Given the description of an element on the screen output the (x, y) to click on. 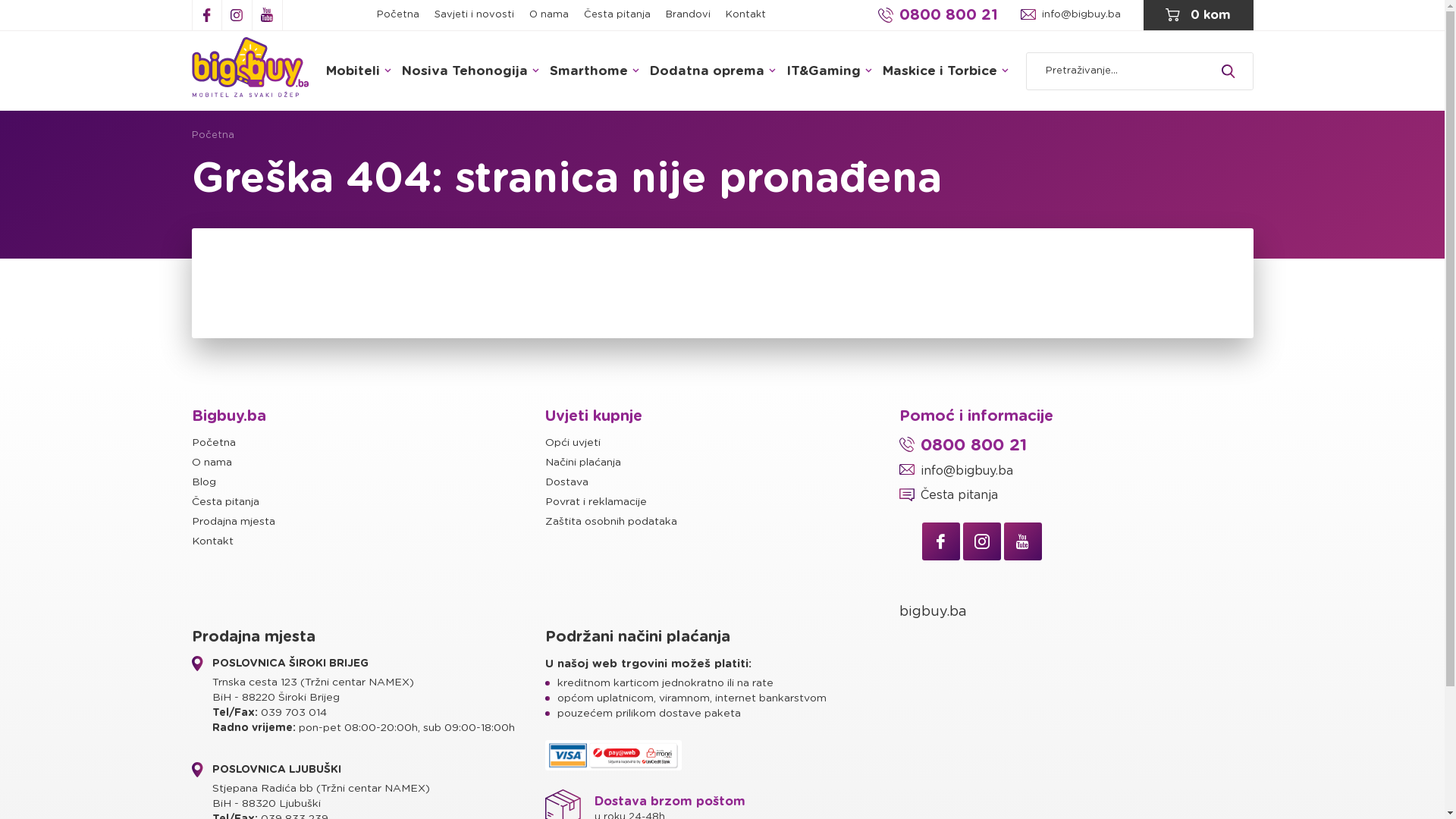
Youtube Element type: text (266, 15)
Blog Element type: text (368, 481)
Dostava Element type: text (722, 481)
Brandovi Element type: text (688, 14)
Kontakt Element type: text (368, 541)
O nama Element type: text (368, 462)
Savjeti i novosti Element type: text (473, 14)
bigbuy.ba Element type: text (932, 611)
0 kom Element type: text (1198, 15)
Instagram Element type: text (236, 15)
Instagram Element type: text (982, 541)
Povrat i reklamacije Element type: text (722, 501)
Facebook Element type: text (206, 15)
IT&Gaming Element type: text (829, 70)
Prodajna mjesta Element type: text (368, 521)
Nosiva Tehonogija Element type: text (470, 70)
Youtube Element type: text (1022, 541)
Smarthome Element type: text (594, 70)
info@bigbuy.ba Element type: text (1070, 15)
Facebook Element type: text (941, 541)
0800 800 21 Element type: text (937, 15)
Dodatna oprema Element type: text (712, 70)
info@bigbuy.ba Element type: text (1076, 470)
Kontakt Element type: text (744, 14)
0800 800 21 Element type: text (1076, 445)
Mobiteli Element type: text (358, 70)
Maskice i Torbice Element type: text (945, 70)
O nama Element type: text (548, 14)
039 703 014 Element type: text (293, 712)
